Given the description of an element on the screen output the (x, y) to click on. 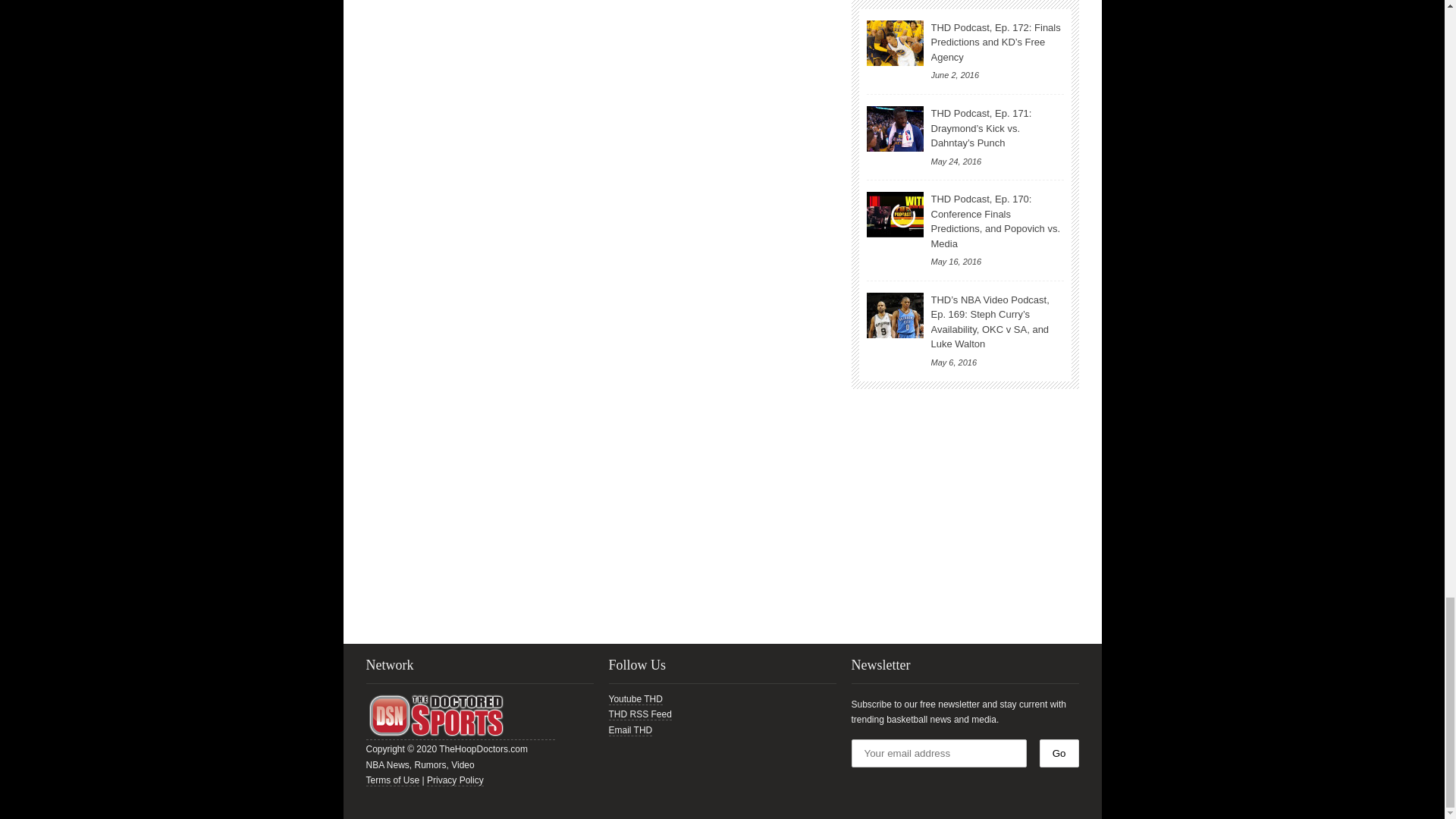
Go (1058, 753)
